Given the description of an element on the screen output the (x, y) to click on. 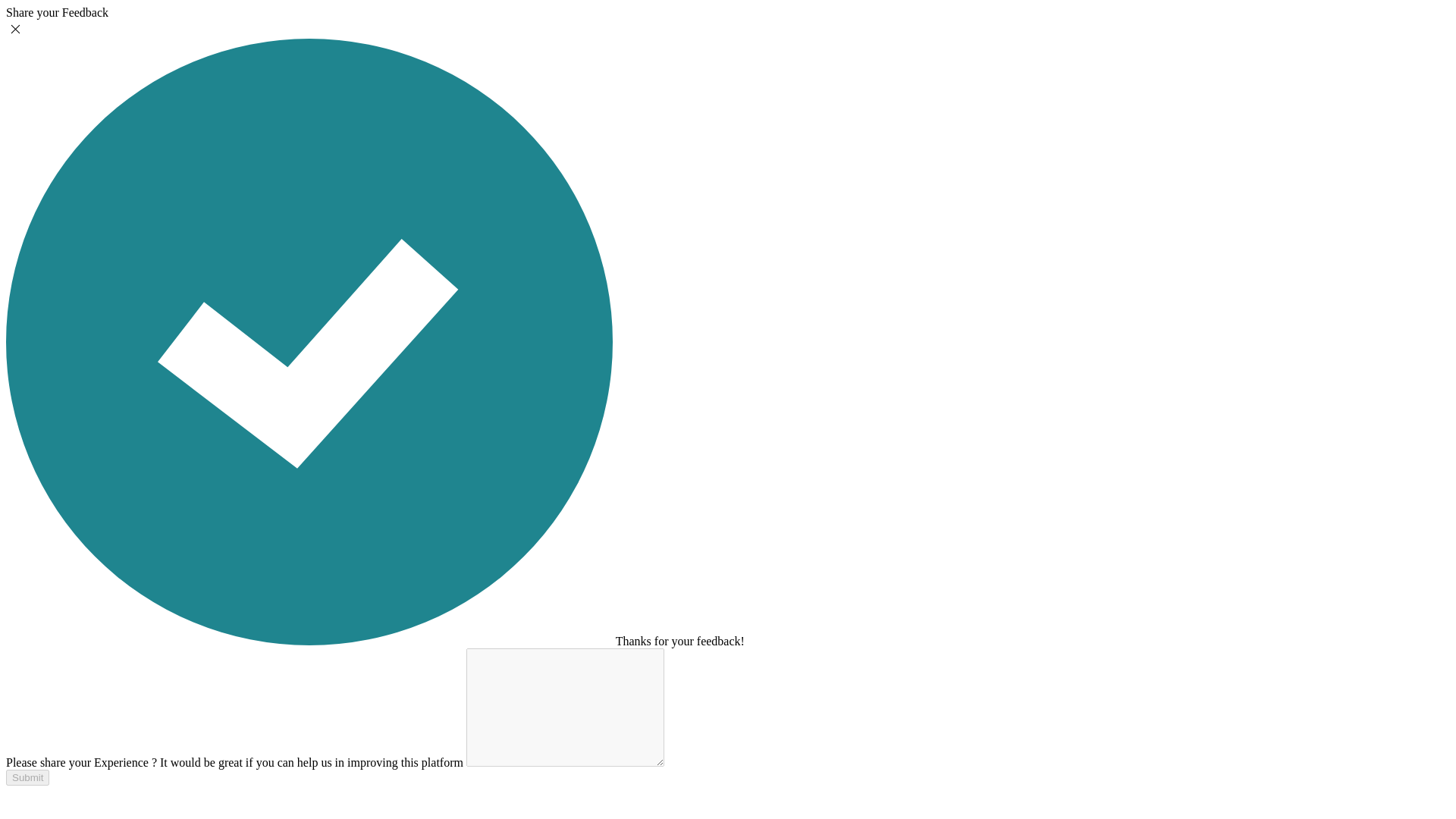
Submit (27, 777)
